Given the description of an element on the screen output the (x, y) to click on. 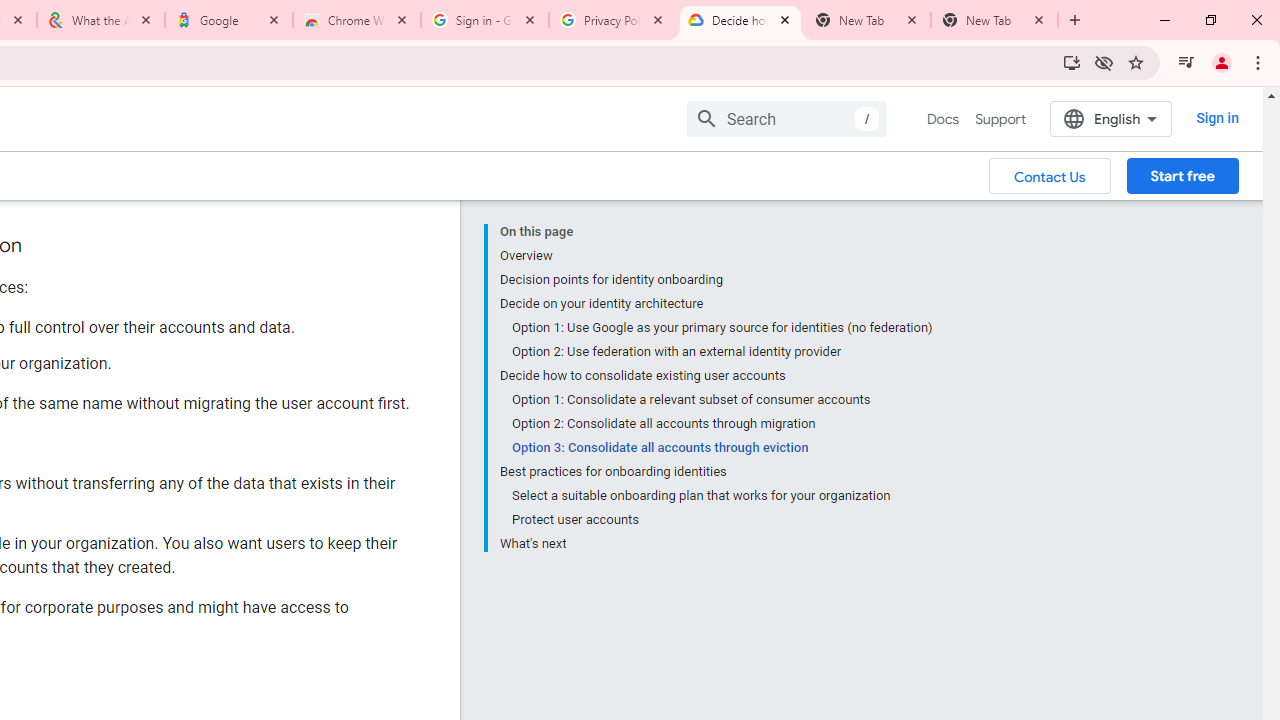
Docs, selected (942, 119)
Protect user accounts (721, 520)
Best practices for onboarding identities (716, 471)
New Tab (994, 20)
